Given the description of an element on the screen output the (x, y) to click on. 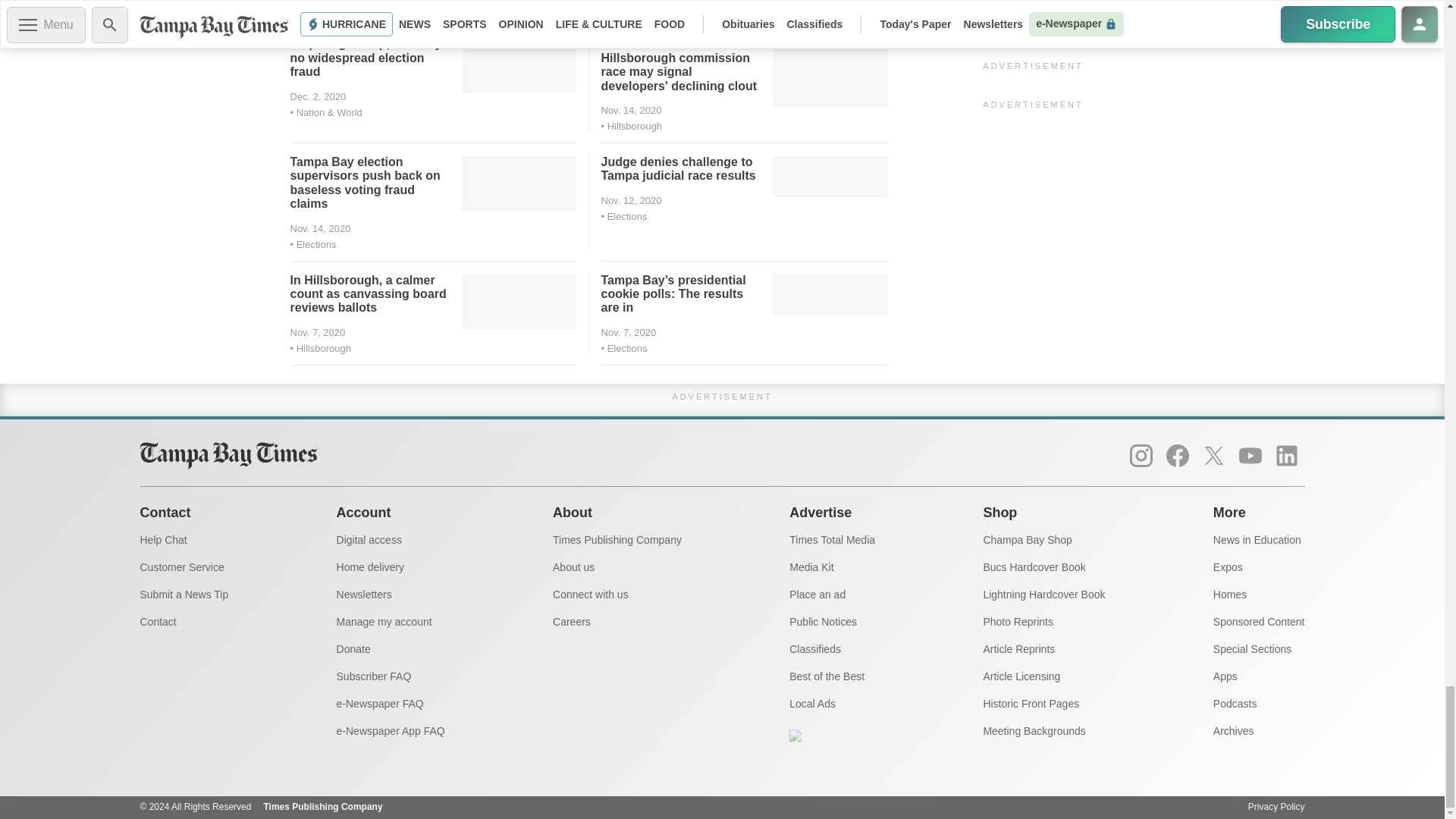
2020-11-11T18:55:55.357Z (630, 200)
2020-12-01T19:39:06.684Z (317, 96)
2020-11-14T14:38:09.514Z (630, 110)
2020-11-14T14:25:02.693Z (319, 228)
